Given the description of an element on the screen output the (x, y) to click on. 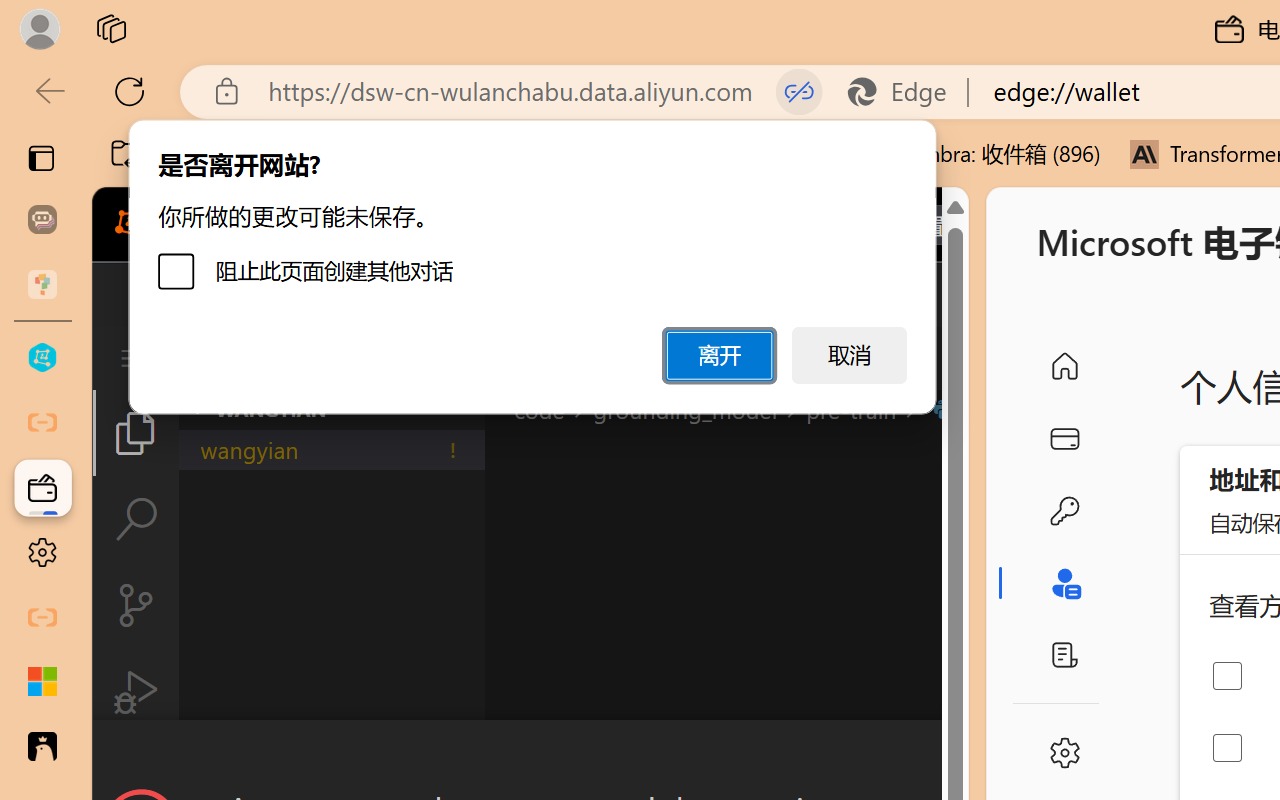
Microsoft security help and learning (42, 681)
Close Dialog (959, 756)
Class: actions-container (529, 756)
Run and Debug (Ctrl+Shift+D) (135, 692)
